Given the description of an element on the screen output the (x, y) to click on. 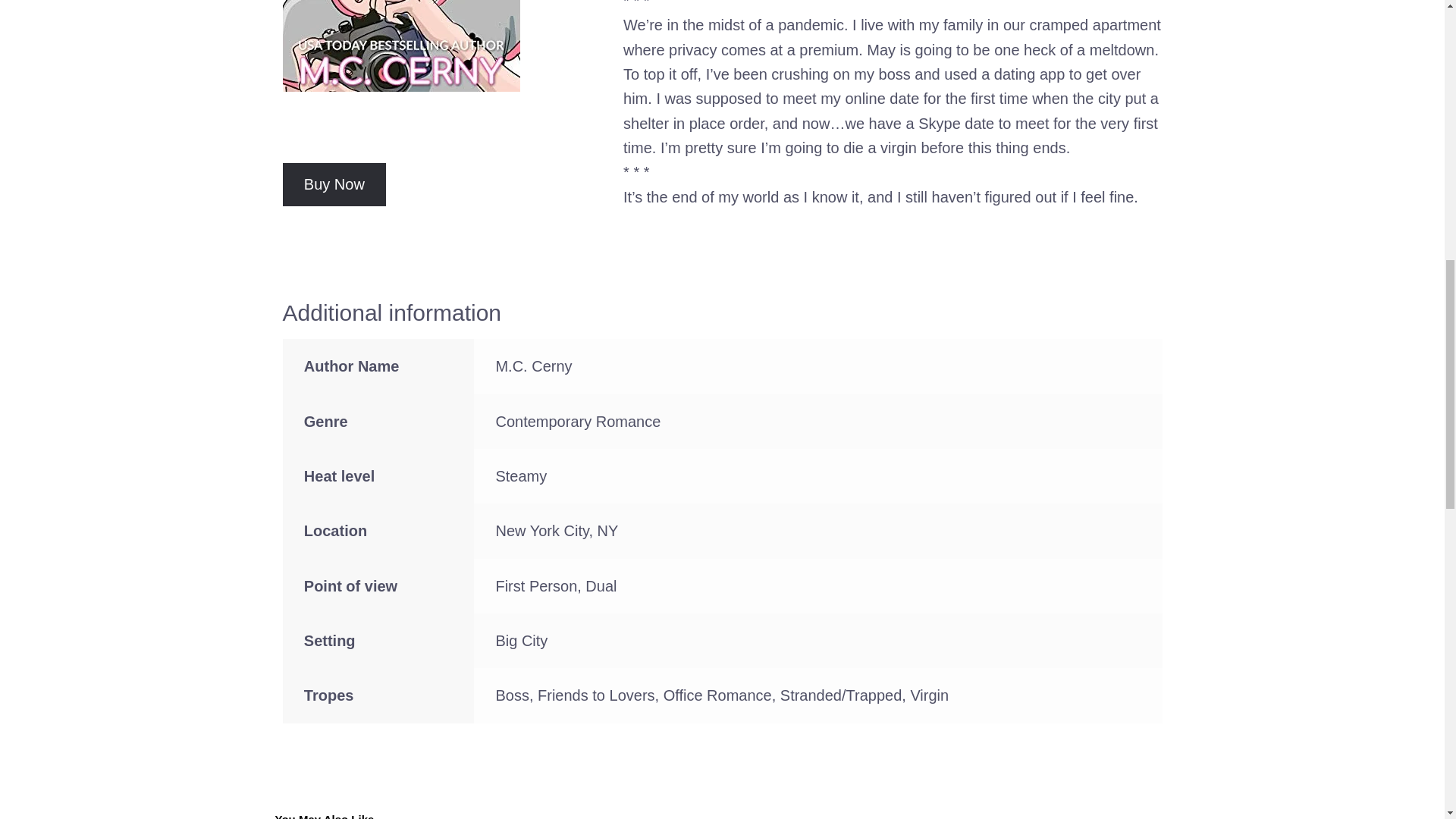
51cYgEsCgeL.jpg (400, 45)
Buy Now (333, 184)
